Given the description of an element on the screen output the (x, y) to click on. 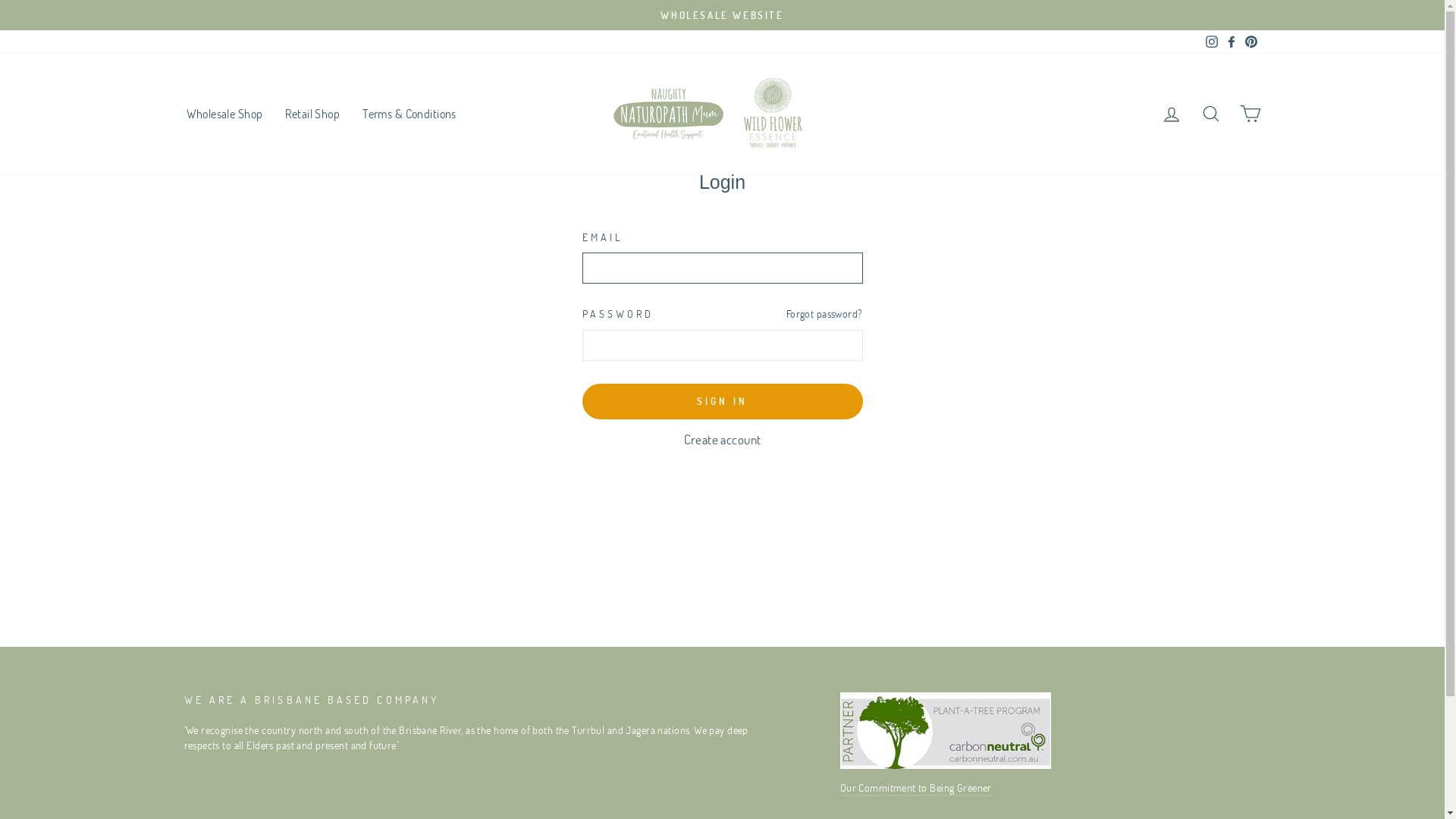
Terms & Conditions Element type: text (409, 114)
Forgot password? Element type: text (824, 313)
Wholesale Shop Element type: text (223, 114)
Retail Shop Element type: text (312, 114)
Skip to content Element type: text (0, 0)
Create account Element type: text (722, 439)
Log in Element type: text (1170, 113)
Pinterest Element type: text (1250, 41)
Our Commitment to Being Greener Element type: text (915, 788)
Search Element type: text (1210, 113)
Facebook Element type: text (1230, 41)
Instagram Element type: text (1210, 41)
Cart Element type: text (1249, 113)
SIGN IN Element type: text (722, 400)
